Given the description of an element on the screen output the (x, y) to click on. 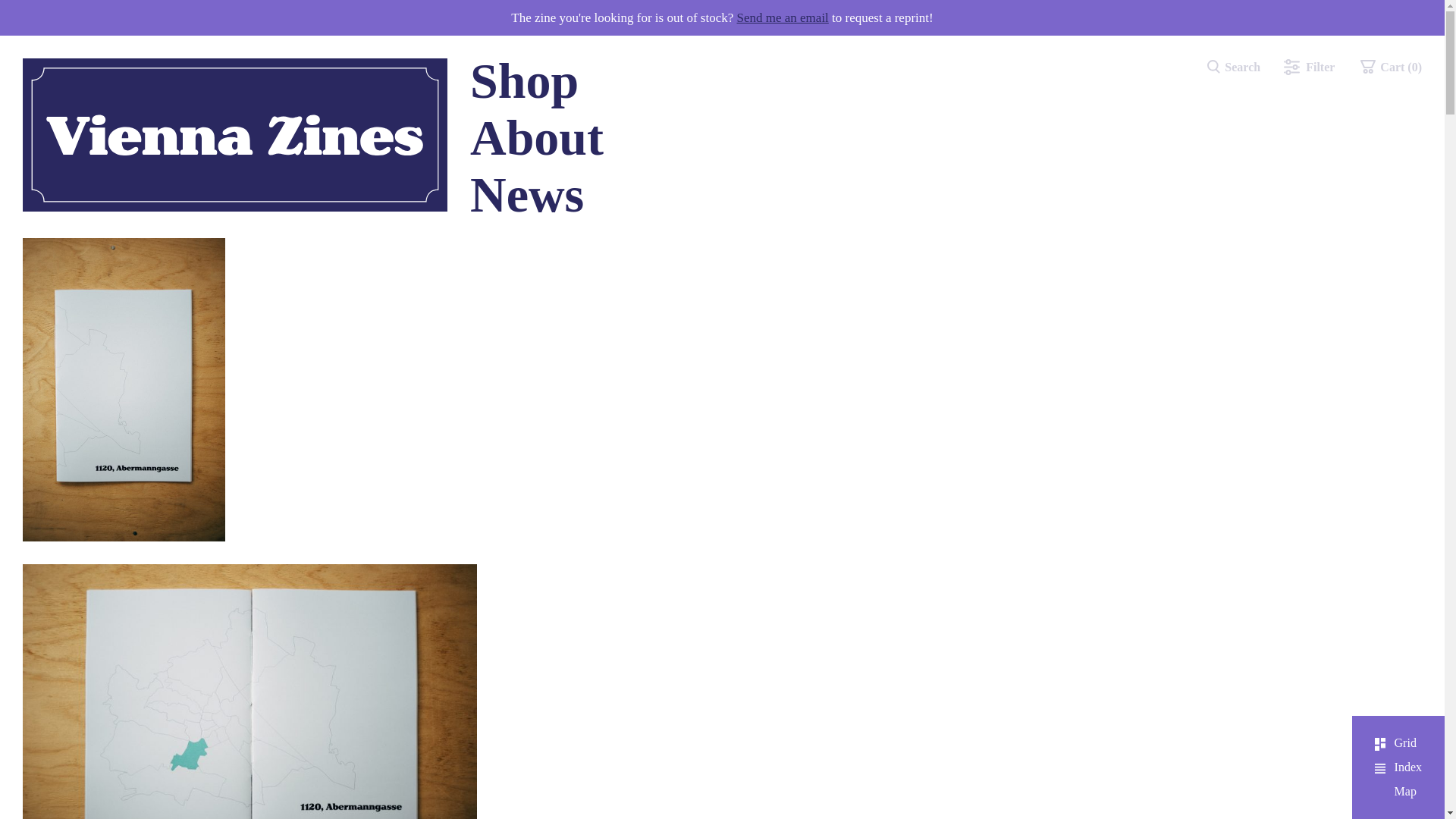
Filter (1308, 67)
Map (1395, 792)
Search (1231, 67)
Send me an email (782, 17)
Index (1398, 767)
About (537, 137)
News (526, 194)
Shop (524, 80)
Grid (1395, 743)
